Given the description of an element on the screen output the (x, y) to click on. 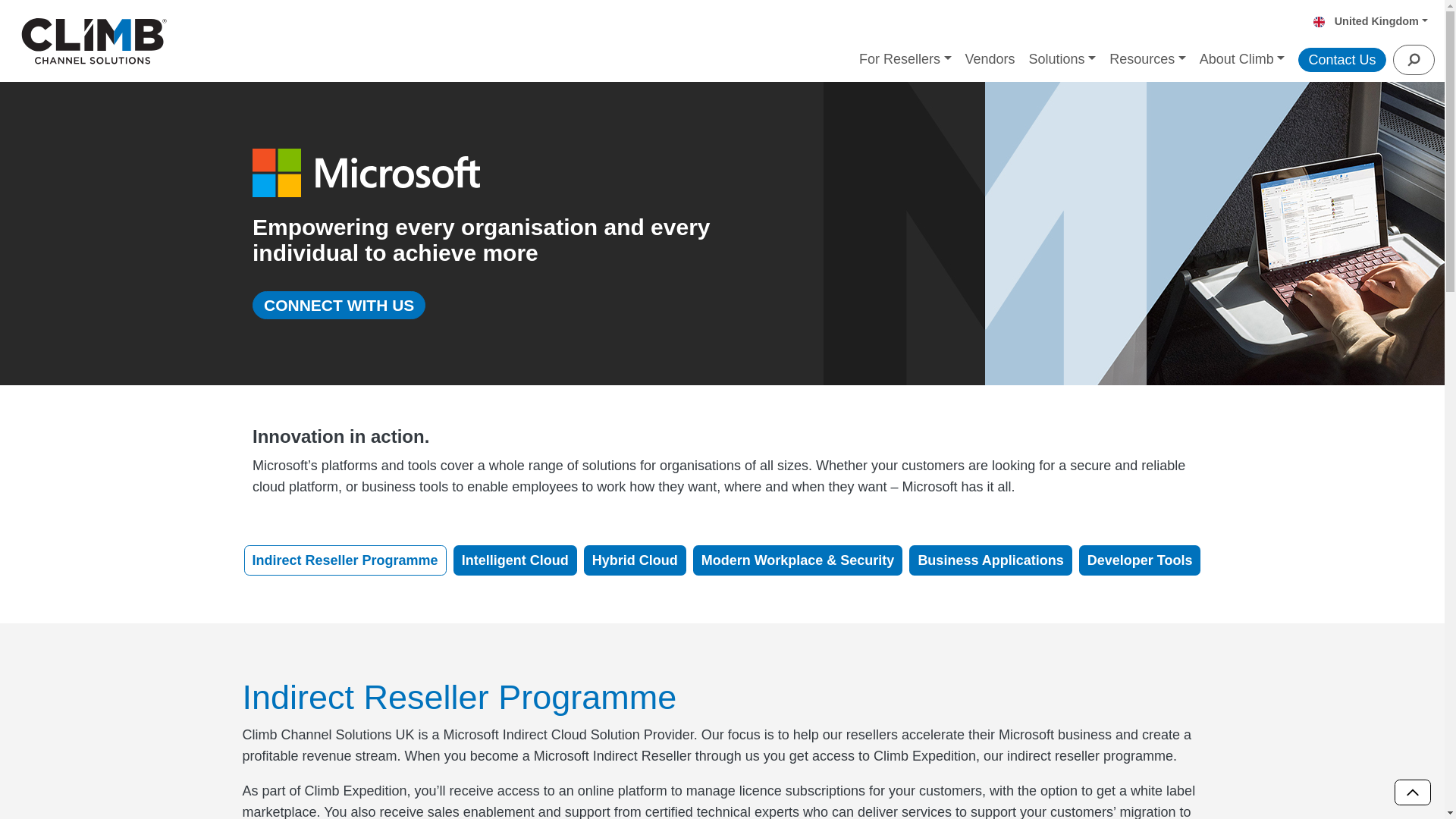
Scroll to top (1412, 792)
Solutions (1062, 60)
United Kingdom (1375, 21)
About Climb (1242, 60)
Resources (1147, 60)
For Resellers (904, 60)
Contact Us (1341, 59)
Vendors (990, 60)
